Given the description of an element on the screen output the (x, y) to click on. 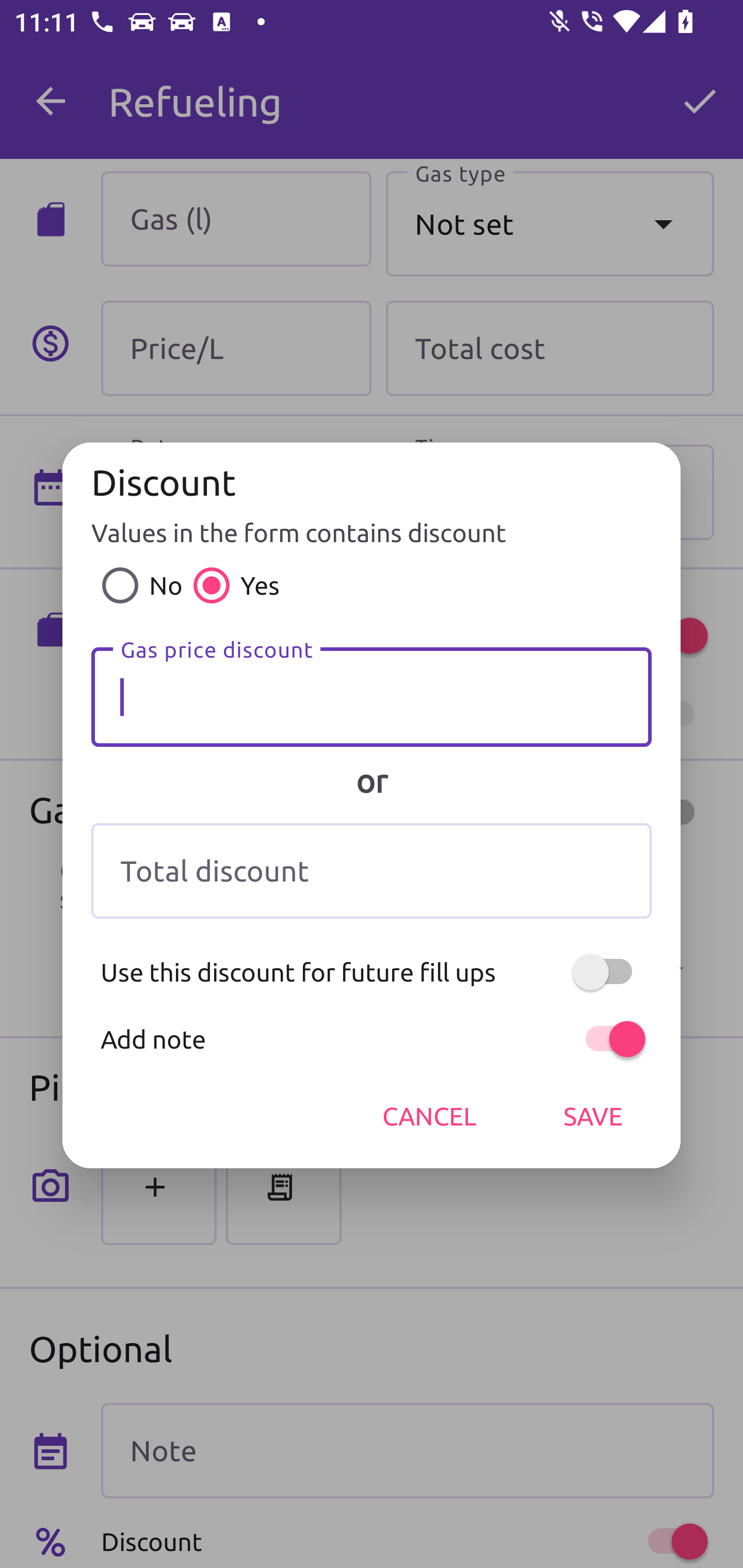
No (136, 584)
Yes (230, 584)
Gas price discount (371, 696)
Total discount (371, 870)
Use this discount for future fill ups (371, 972)
Add note (371, 1038)
CANCEL (429, 1116)
SAVE (593, 1116)
